Given the description of an element on the screen output the (x, y) to click on. 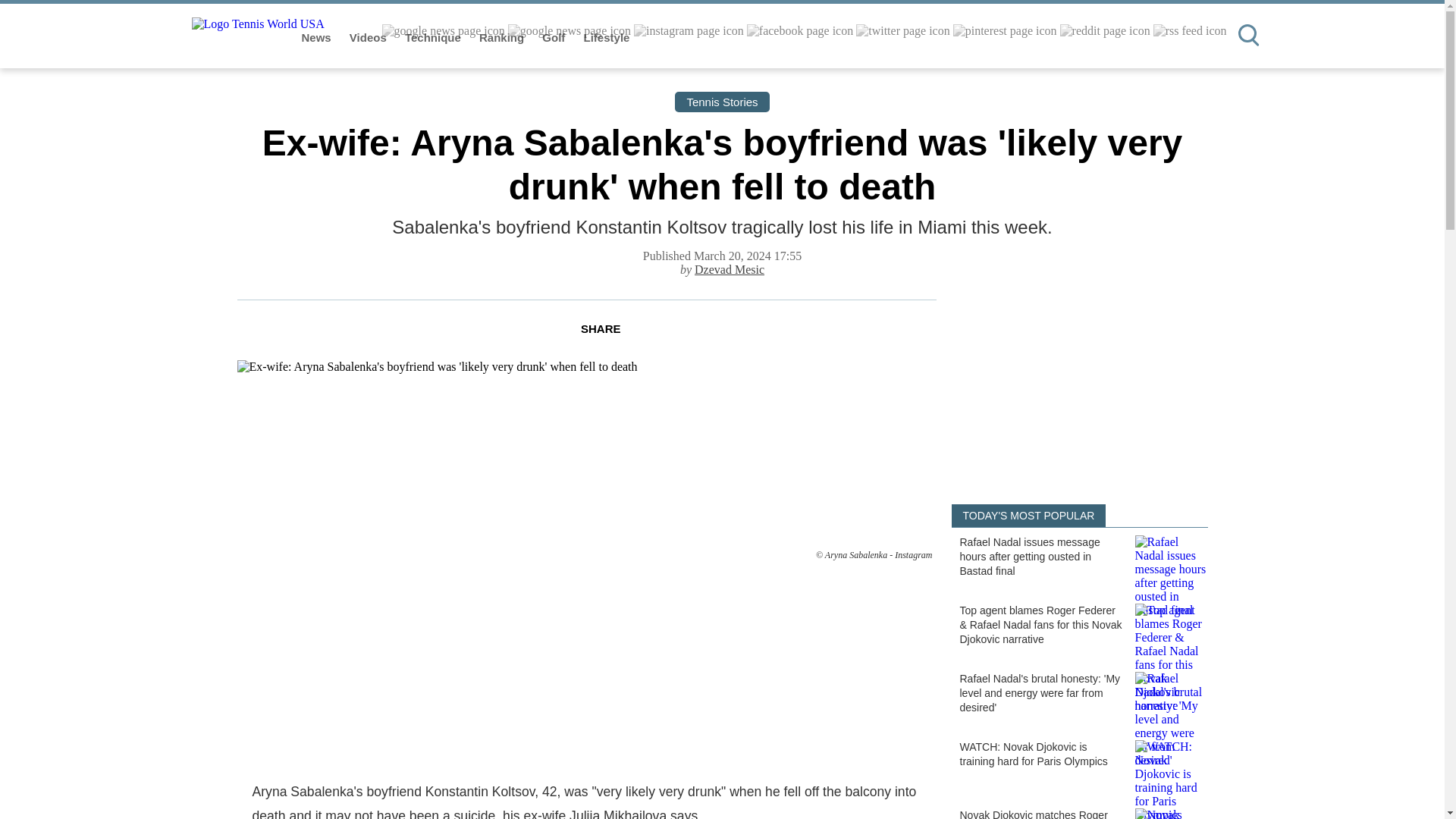
Ranking (503, 37)
Videos (369, 37)
Lifestyle (606, 37)
News (317, 37)
Technique (434, 37)
Golf (554, 37)
